Given the description of an element on the screen output the (x, y) to click on. 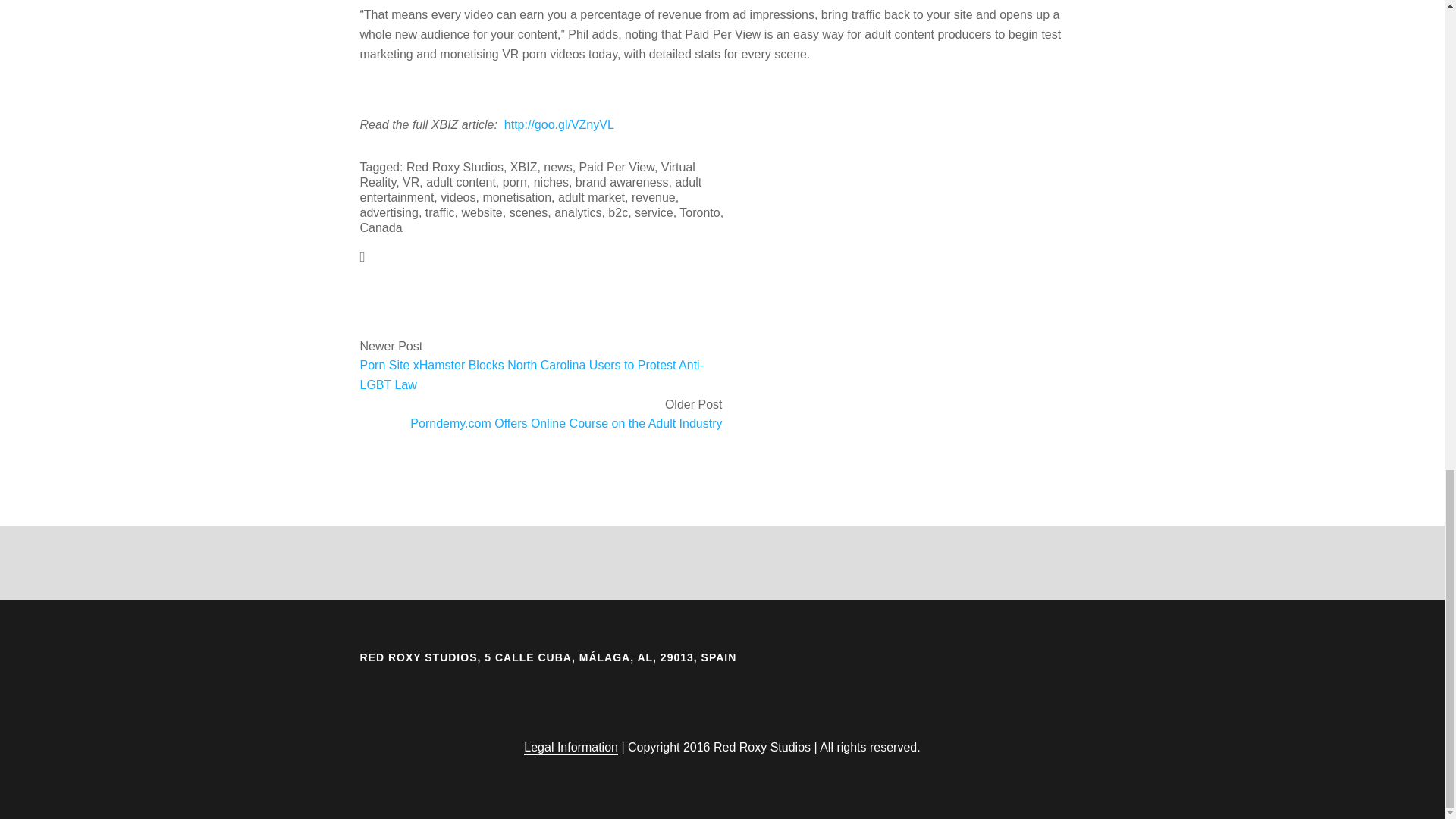
videos (458, 196)
Legal Information (570, 747)
service (653, 212)
VR (411, 182)
Toronto (699, 212)
news (557, 166)
Red Roxy Studios (454, 166)
porn (514, 182)
scenes (528, 212)
analytics (577, 212)
niches (551, 182)
XBIZ (524, 166)
b2c (617, 212)
adult market (590, 196)
Canada (380, 227)
